Given the description of an element on the screen output the (x, y) to click on. 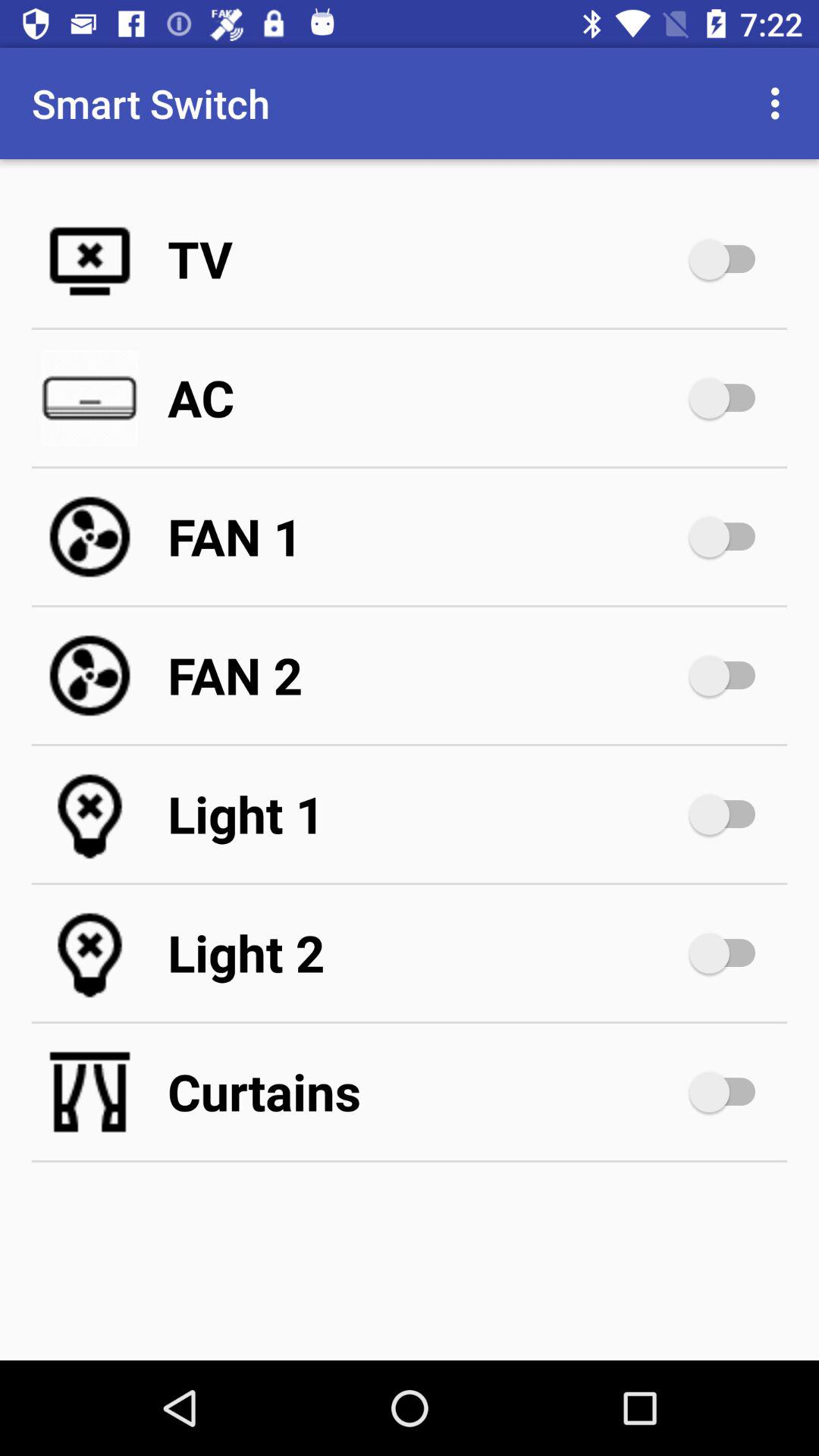
toggle curtains option (729, 1091)
